Given the description of an element on the screen output the (x, y) to click on. 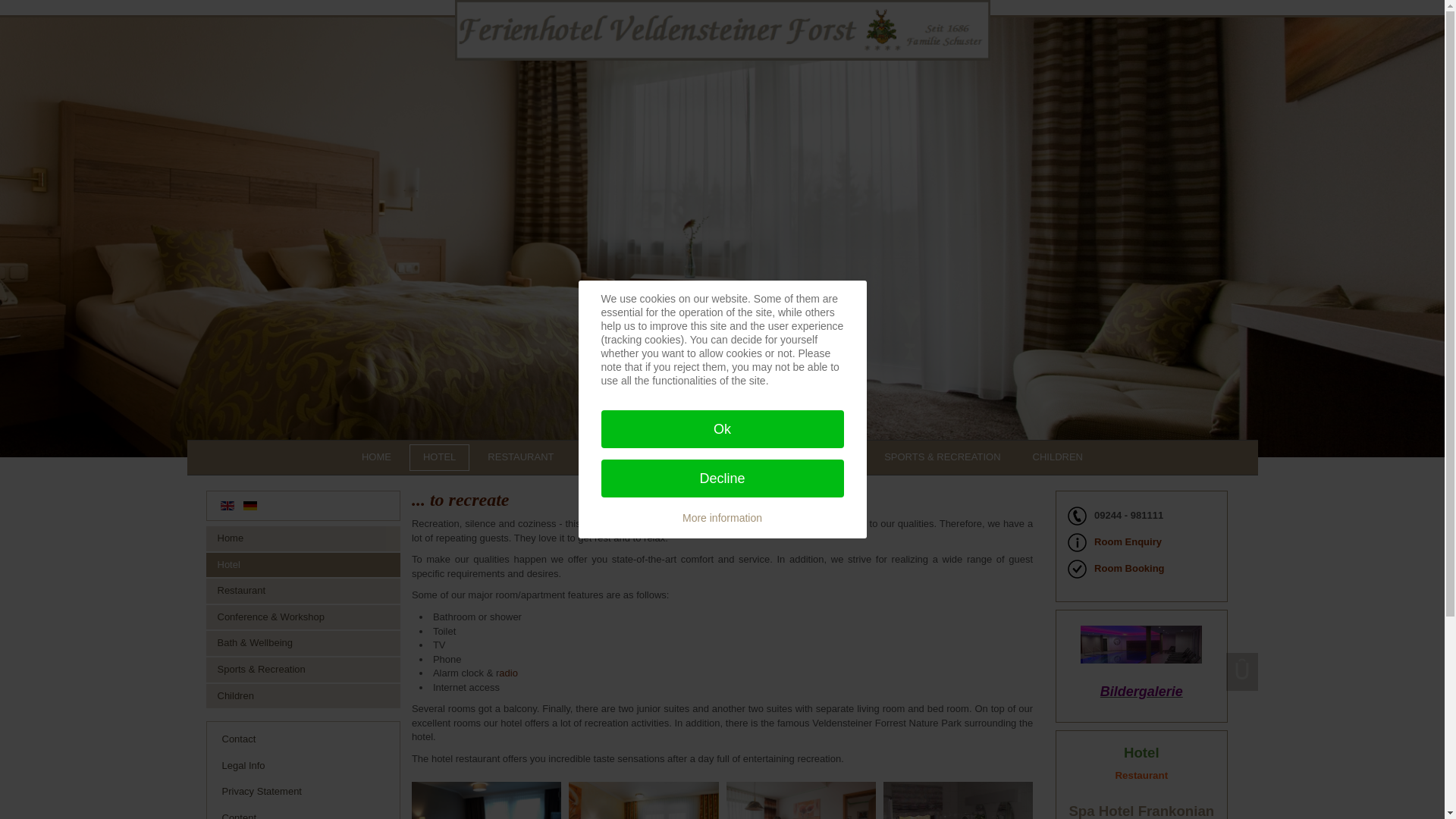
Room Booking (1128, 568)
RESTAURANT (520, 457)
Children (303, 696)
Hotel (303, 565)
HOME (375, 457)
Restaurant (303, 590)
Home (303, 538)
Legal Info (303, 765)
Content (303, 812)
HOTEL (438, 457)
CHILDREN (1057, 457)
Contact (303, 739)
Room Enquiry (1127, 541)
Privacy Statement (303, 791)
Deutsch (250, 505)
